Given the description of an element on the screen output the (x, y) to click on. 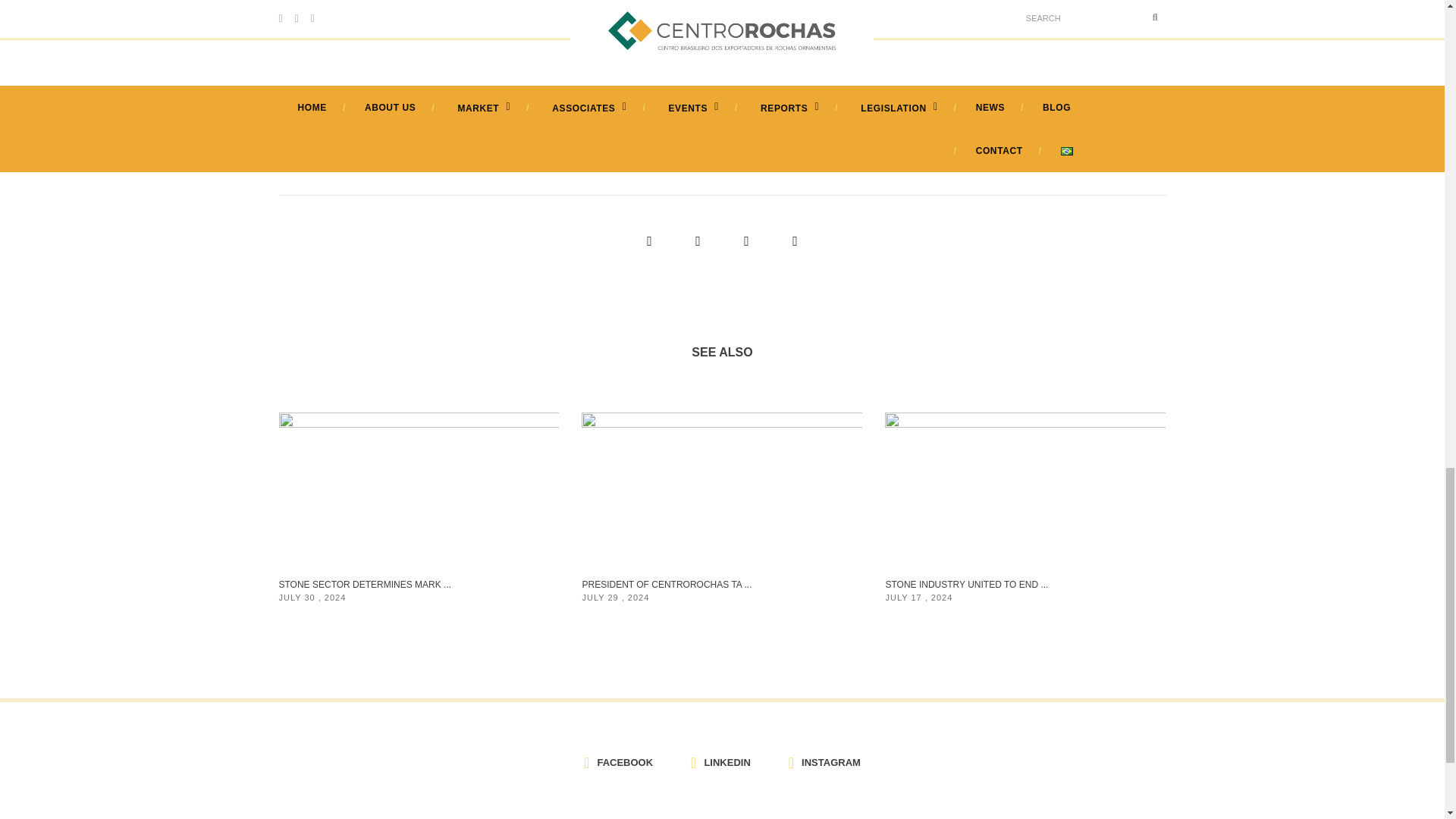
Like (1018, 165)
